Given the description of an element on the screen output the (x, y) to click on. 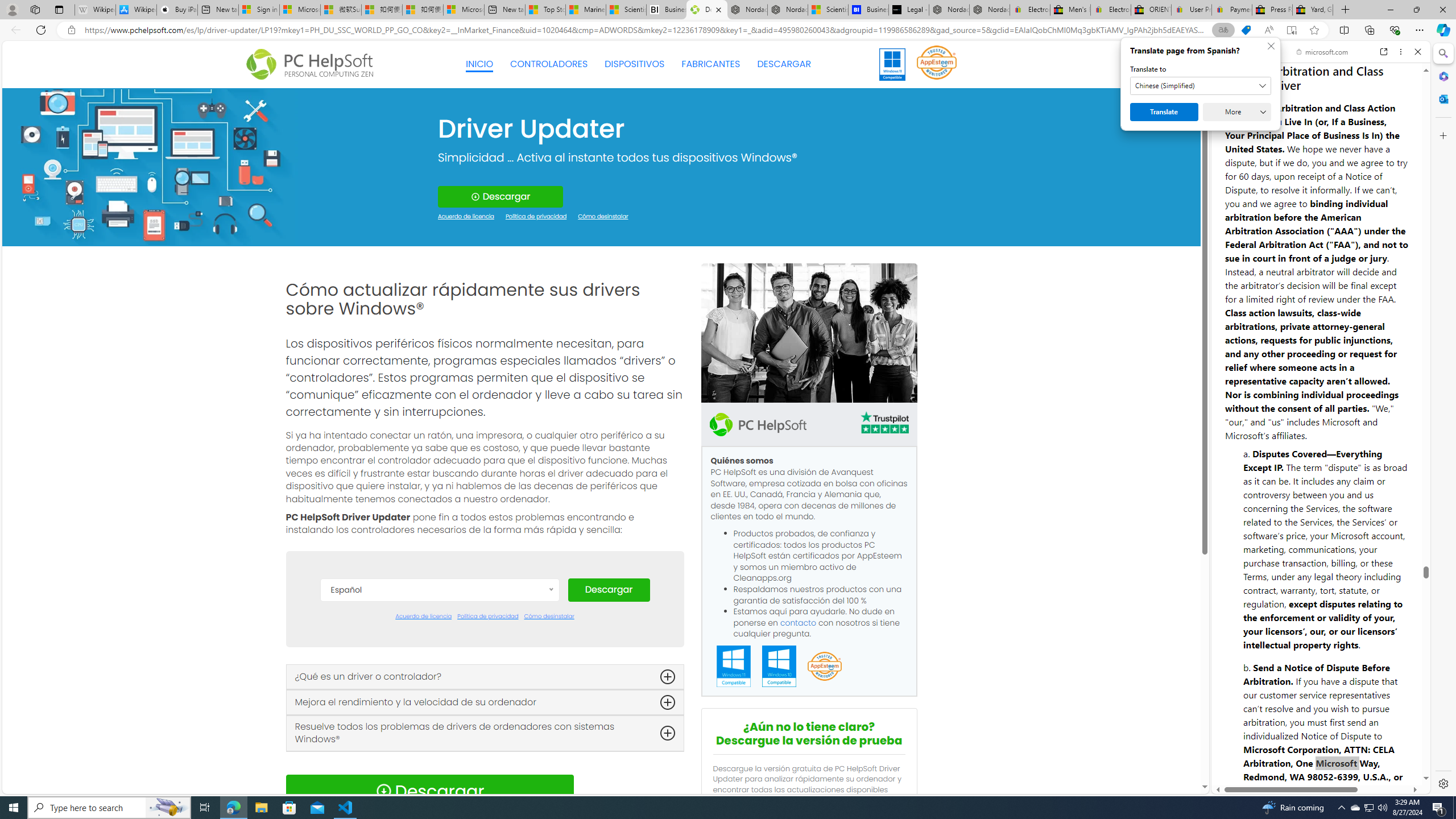
INICIO (479, 64)
Shopping in Microsoft Edge (1245, 29)
Show translate options (1222, 29)
DESCARGAR (783, 64)
Nederlands (439, 763)
Windows 11 Compatible (733, 666)
English (439, 695)
FABRICANTES (711, 64)
Deutsch (439, 678)
